Given the description of an element on the screen output the (x, y) to click on. 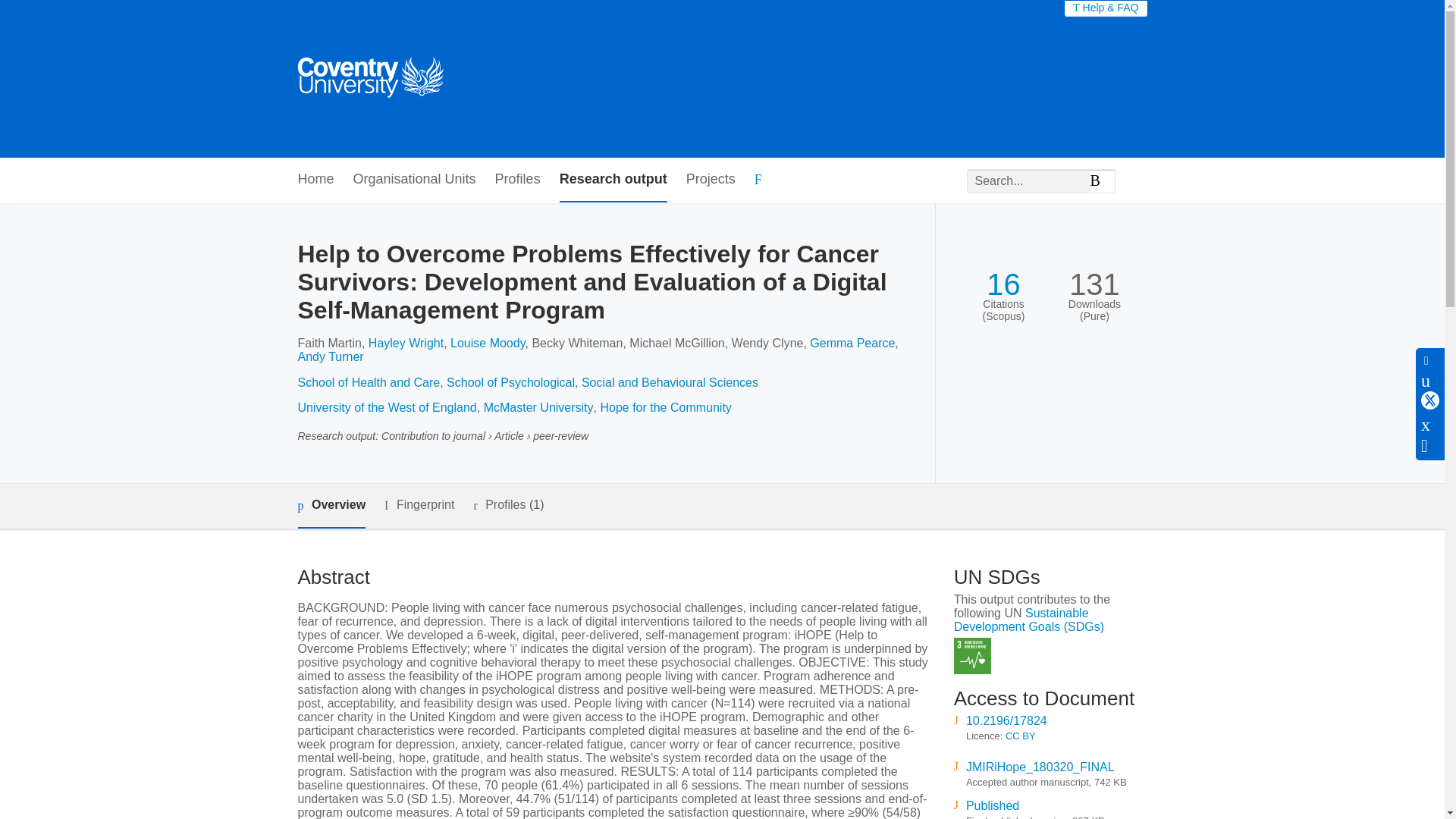
Organisational Units (414, 180)
Published (992, 805)
Research output (612, 180)
University of the West of England (386, 407)
Gemma Pearce (852, 342)
School of Psychological, Social and Behavioural Sciences (602, 382)
Hayley Wright (406, 342)
School of Health and Care (368, 382)
McMaster University (538, 407)
CC BY (1020, 736)
